Given the description of an element on the screen output the (x, y) to click on. 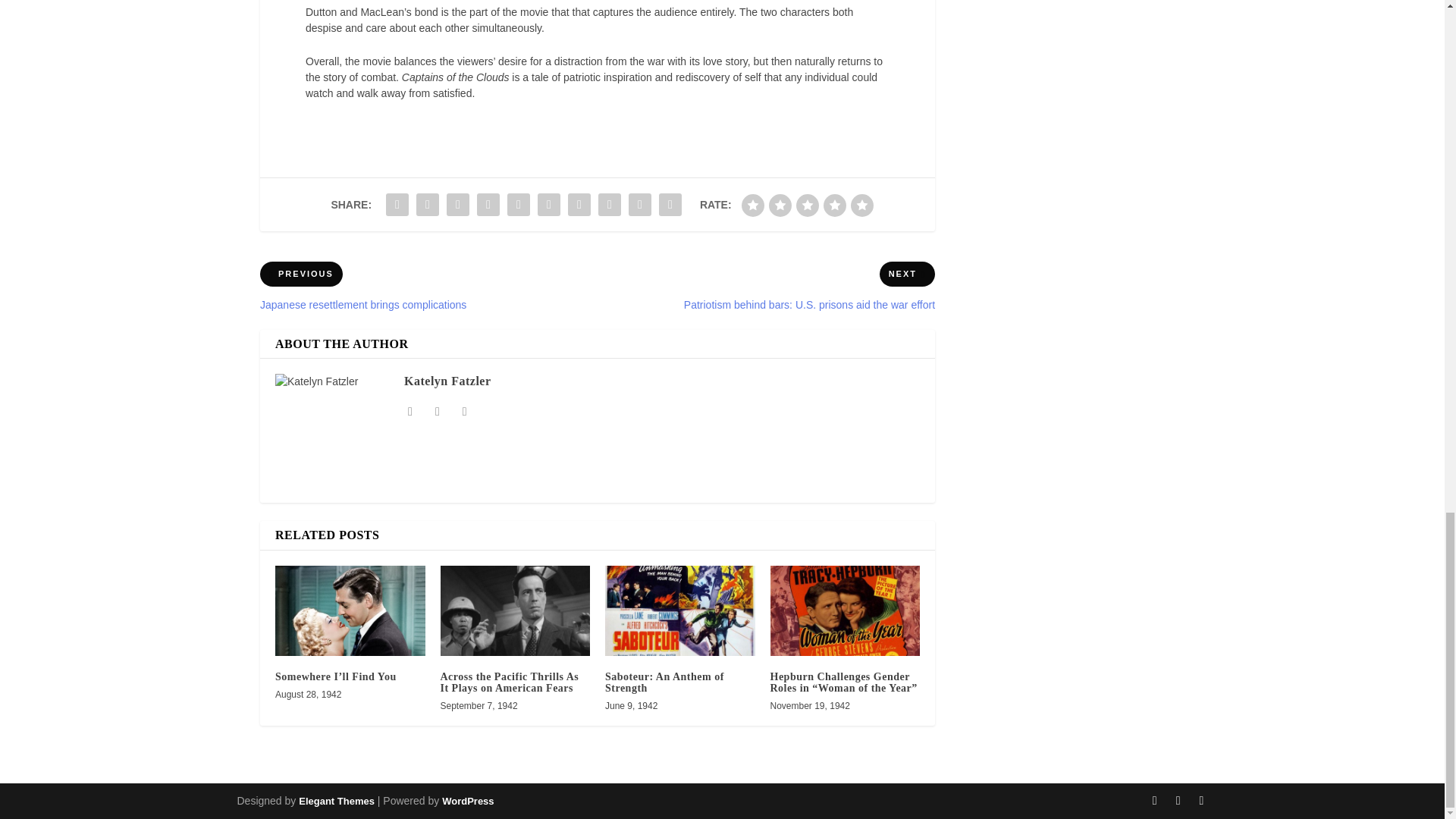
Share "Cagney captains latest blockbuster" via LinkedIn (549, 204)
Share "Cagney captains latest blockbuster" via Stumbleupon (609, 204)
Share "Cagney captains latest blockbuster" via Tumblr (488, 204)
Share "Cagney captains latest blockbuster" via Facebook (396, 204)
Share "Cagney captains latest blockbuster" via Buffer (579, 204)
Share "Cagney captains latest blockbuster" via Pinterest (518, 204)
Share "Cagney captains latest blockbuster" via Twitter (427, 204)
